Given the description of an element on the screen output the (x, y) to click on. 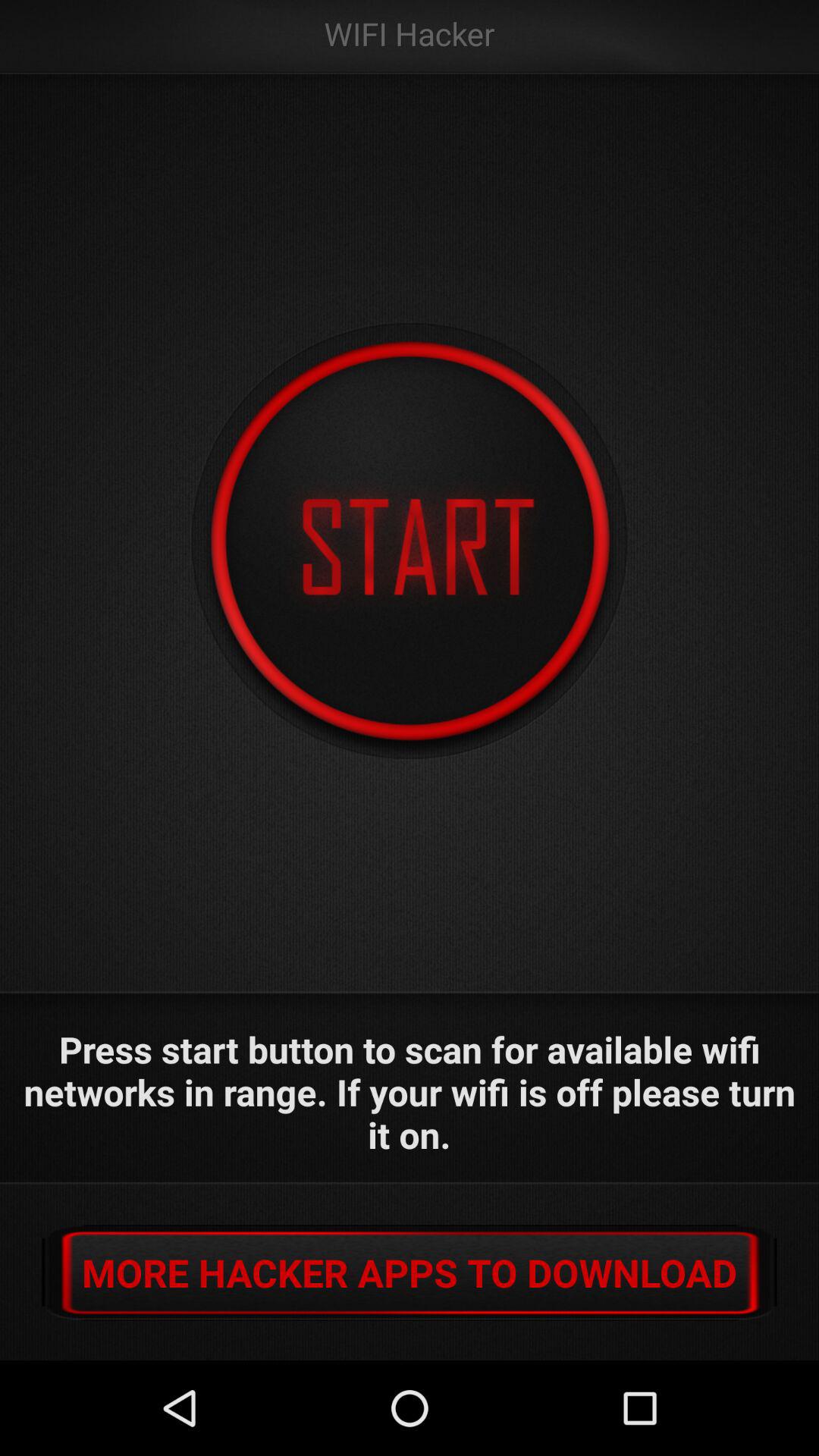
select icon below press start button app (409, 1272)
